Given the description of an element on the screen output the (x, y) to click on. 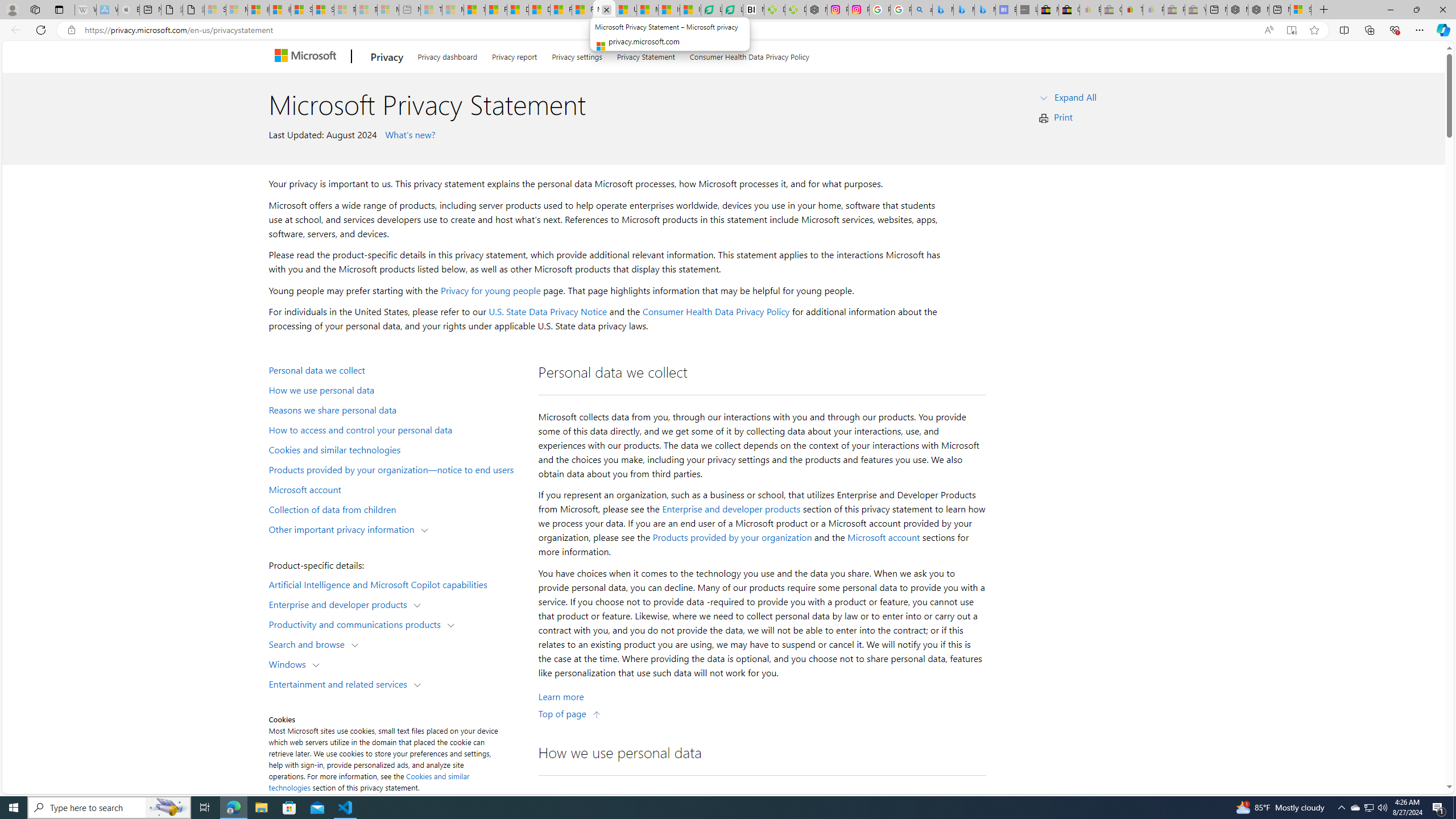
Other important privacy information (343, 528)
Marine life - MSN - Sleeping (452, 9)
Privacy for young people (489, 290)
Microsoft Services Agreement - Sleeping (236, 9)
Cookies and similar technologies (395, 449)
Drinking tea every day is proven to delay biological aging (539, 9)
Print (1063, 116)
Collection of data from children (395, 508)
